Given the description of an element on the screen output the (x, y) to click on. 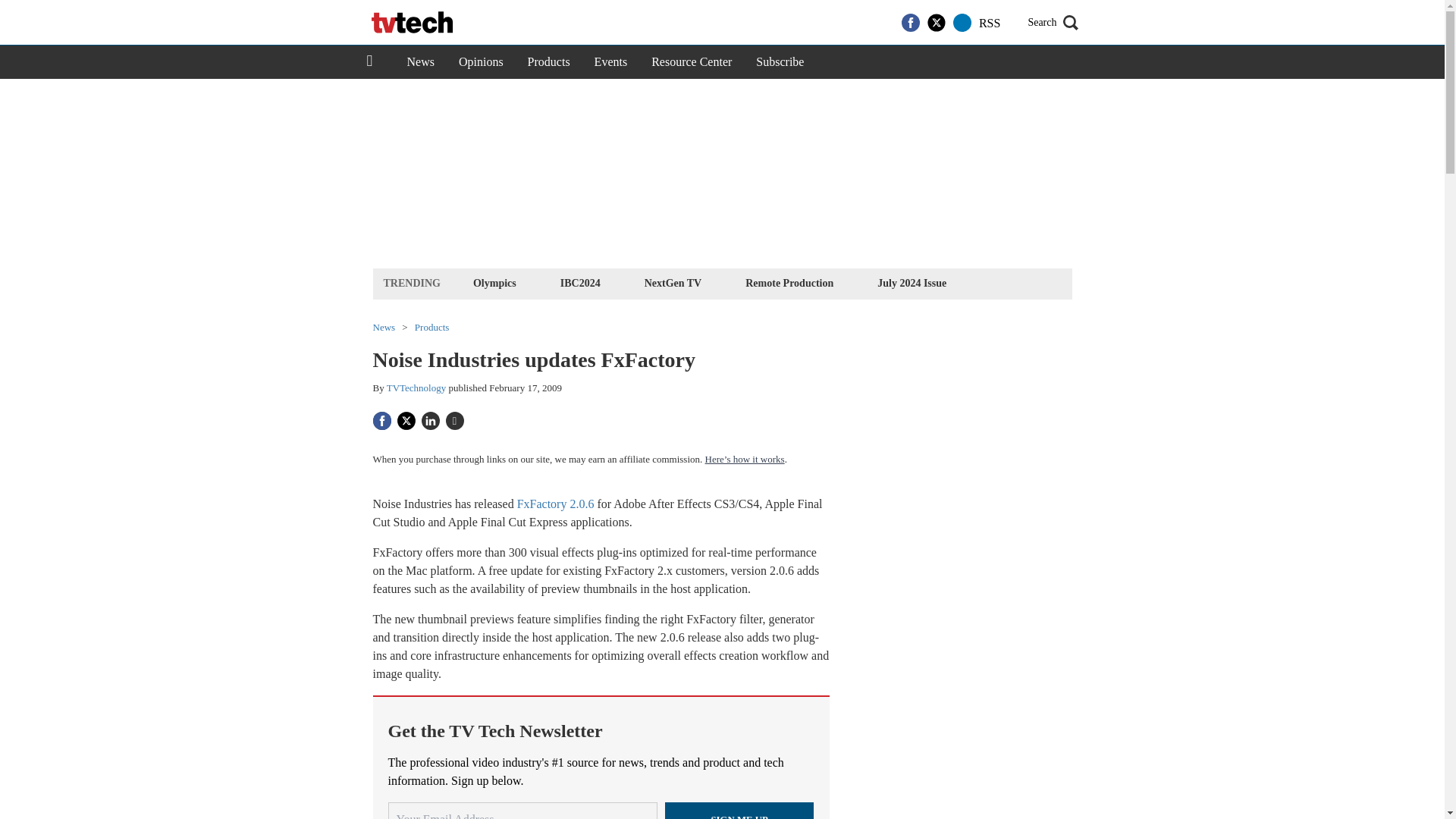
Resource Center (691, 61)
Olympics (494, 282)
Subscribe (779, 61)
July 2024 Issue (912, 282)
Opinions (480, 61)
TVTechnology (416, 387)
NextGen TV (673, 282)
Sign me up (739, 810)
IBC2024 (579, 282)
RSS (989, 22)
Products (548, 61)
Events (611, 61)
Products (431, 327)
News (419, 61)
Sign me up (739, 810)
